Given the description of an element on the screen output the (x, y) to click on. 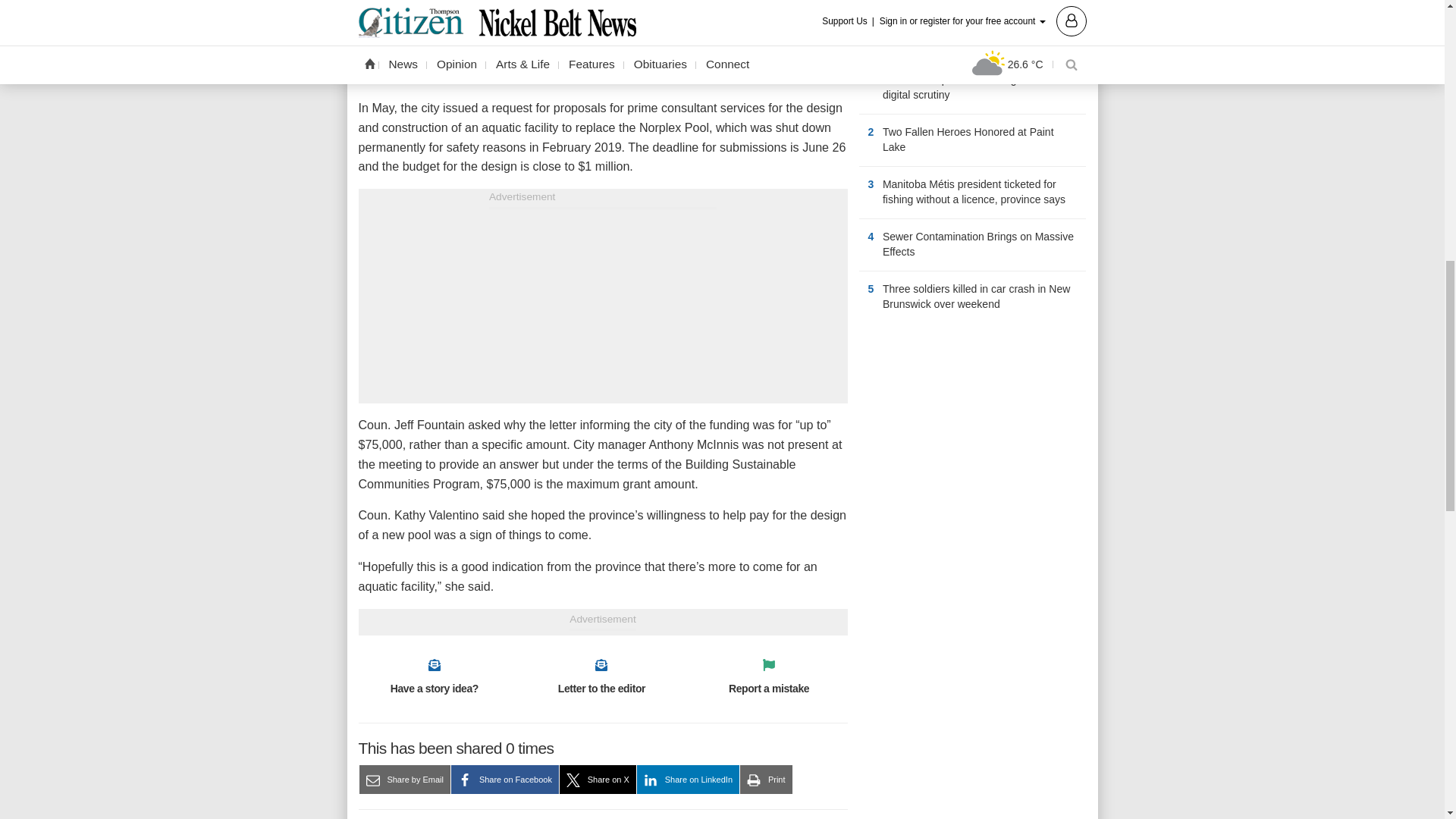
3rd party ad content (602, 303)
3rd party ad content (972, 432)
